Given the description of an element on the screen output the (x, y) to click on. 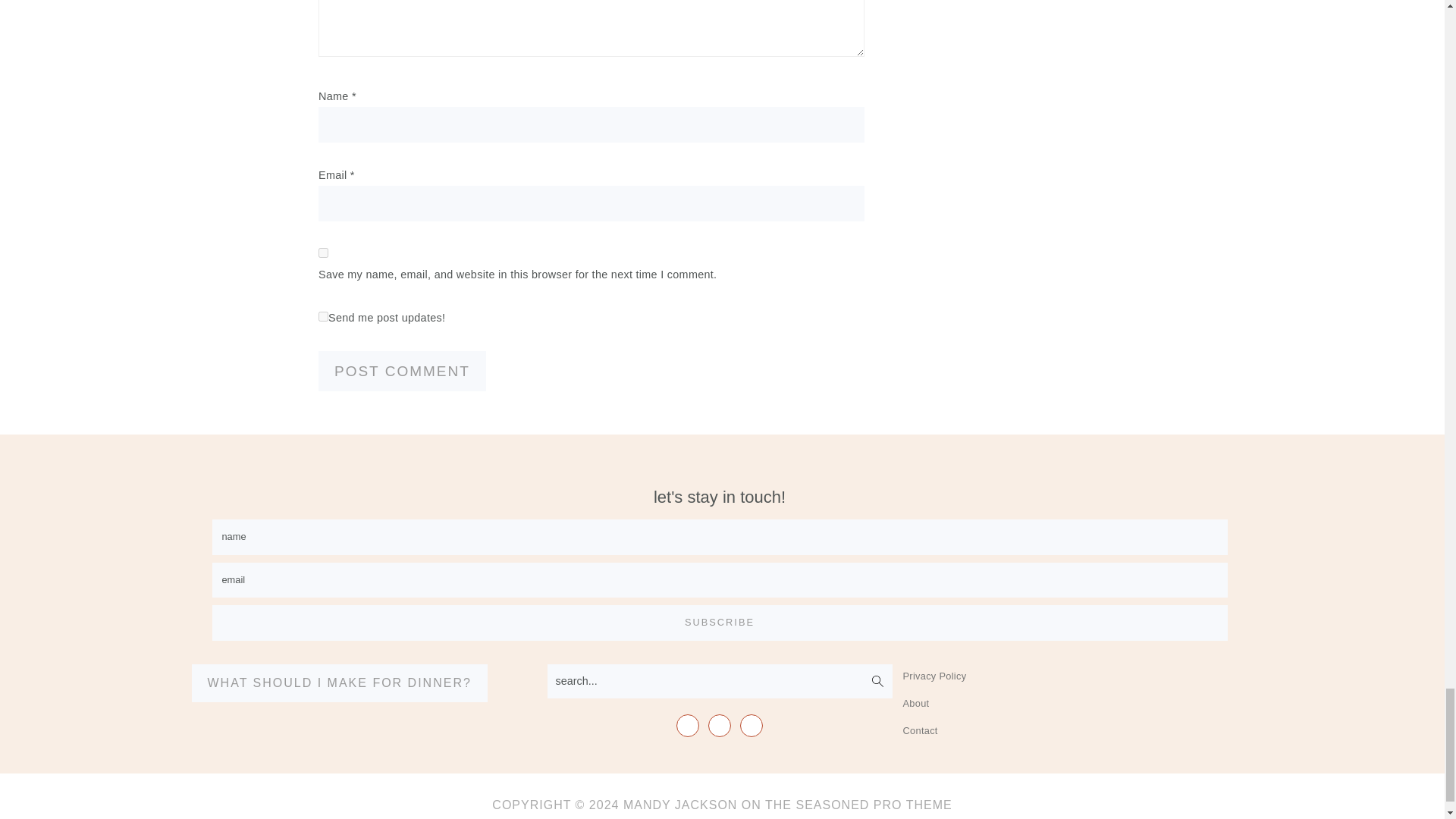
1 (323, 316)
Post Comment (402, 371)
subscribe (719, 622)
yes (323, 252)
